Given the description of an element on the screen output the (x, y) to click on. 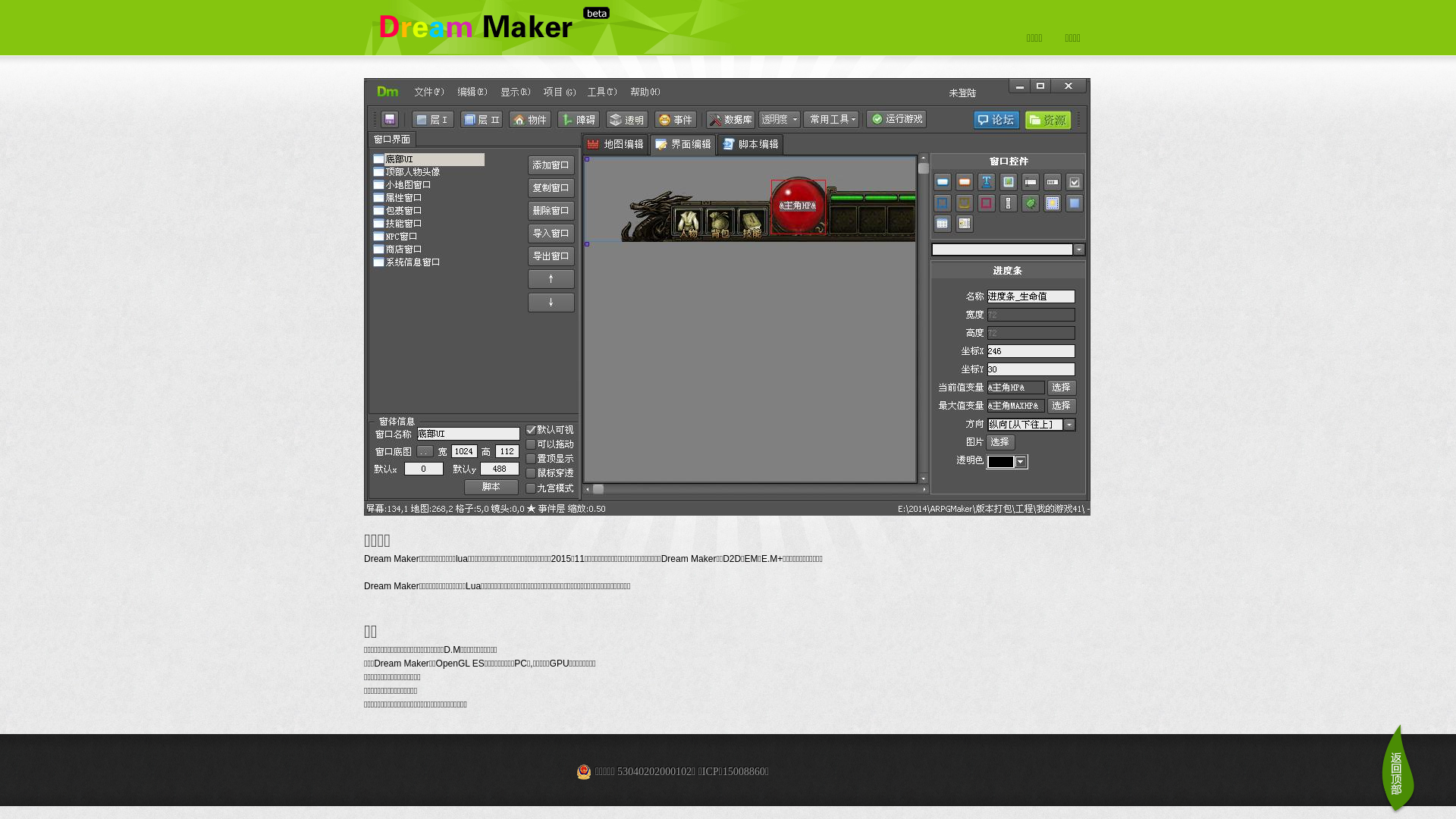
DreamMaker Element type: text (508, 27)
